Given the description of an element on the screen output the (x, y) to click on. 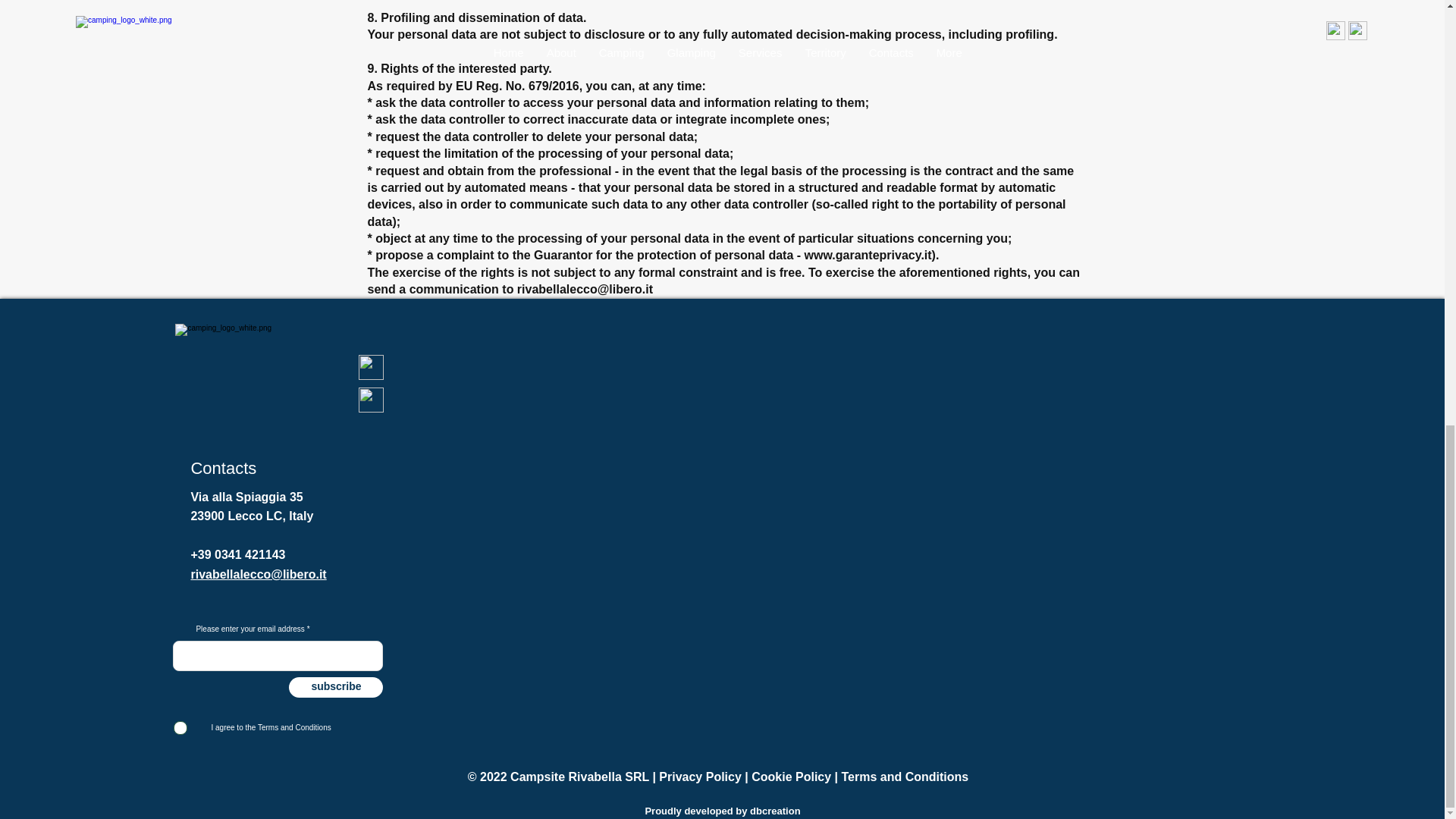
subscribe (335, 687)
www.garanteprivacy.it (868, 254)
